Given the description of an element on the screen output the (x, y) to click on. 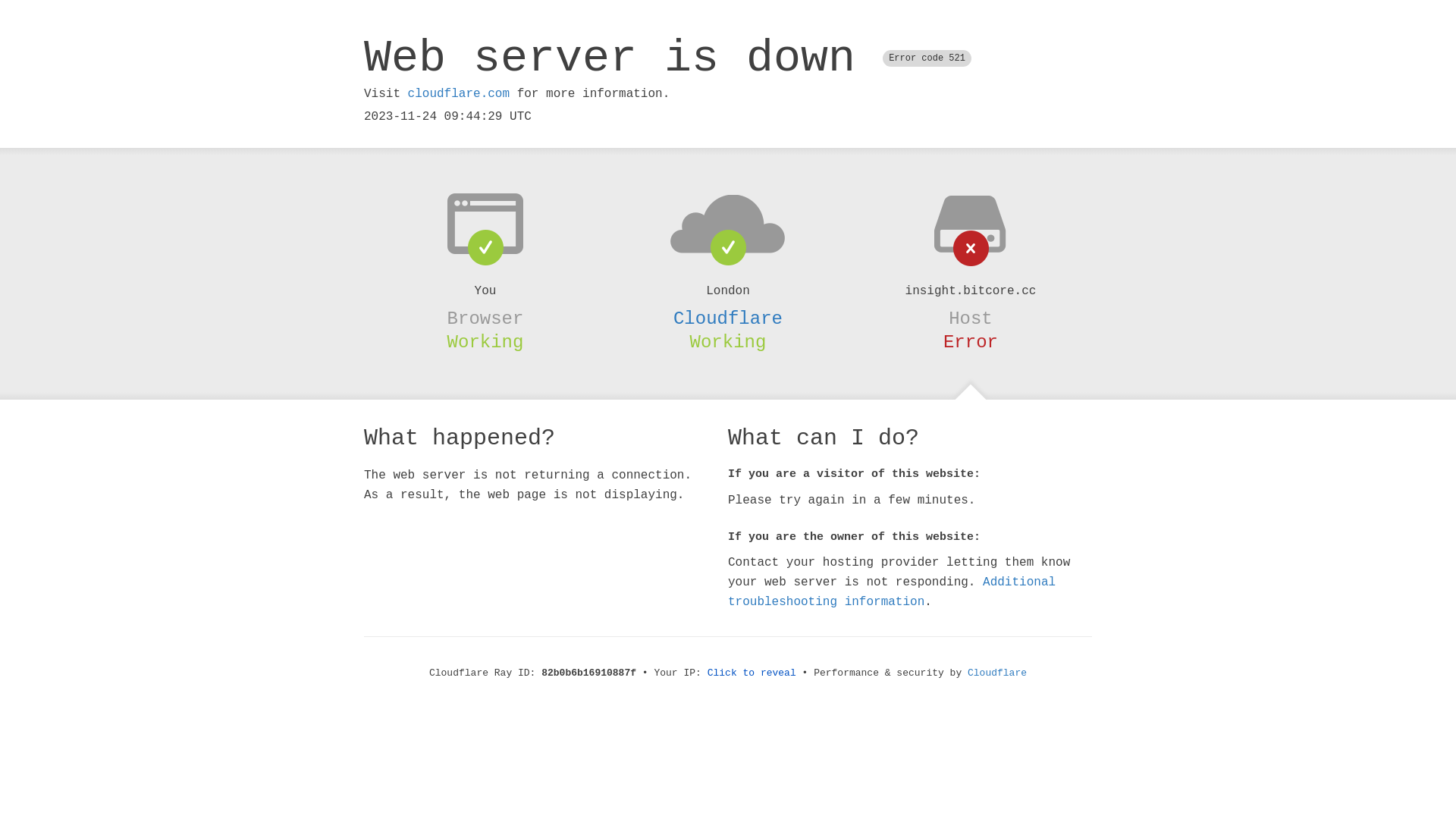
Additional troubleshooting information Element type: text (891, 591)
Cloudflare Element type: text (727, 318)
Cloudflare Element type: text (996, 672)
Click to reveal Element type: text (751, 672)
cloudflare.com Element type: text (458, 93)
